Given the description of an element on the screen output the (x, y) to click on. 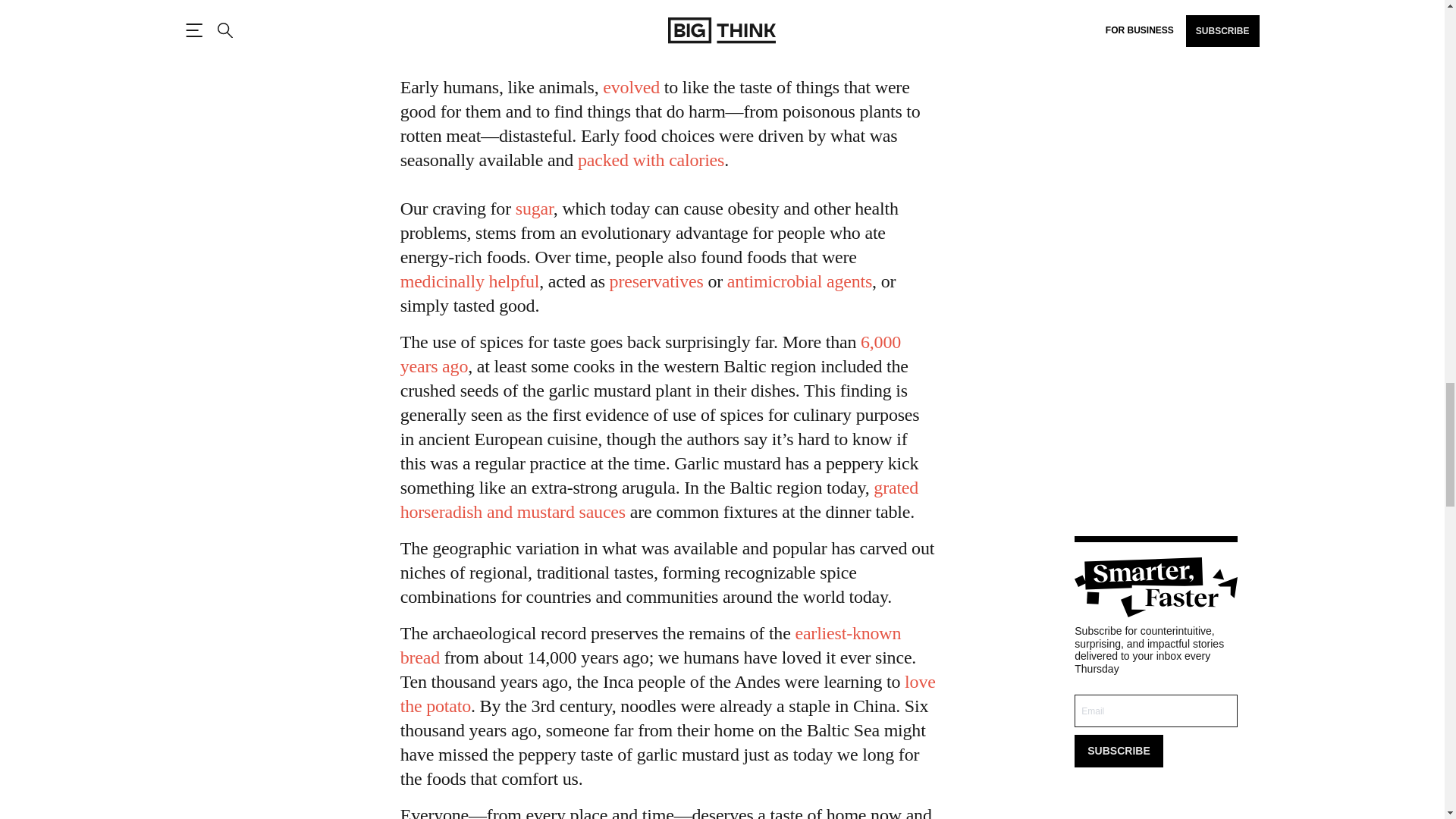
Subscribe (1117, 750)
